Given the description of an element on the screen output the (x, y) to click on. 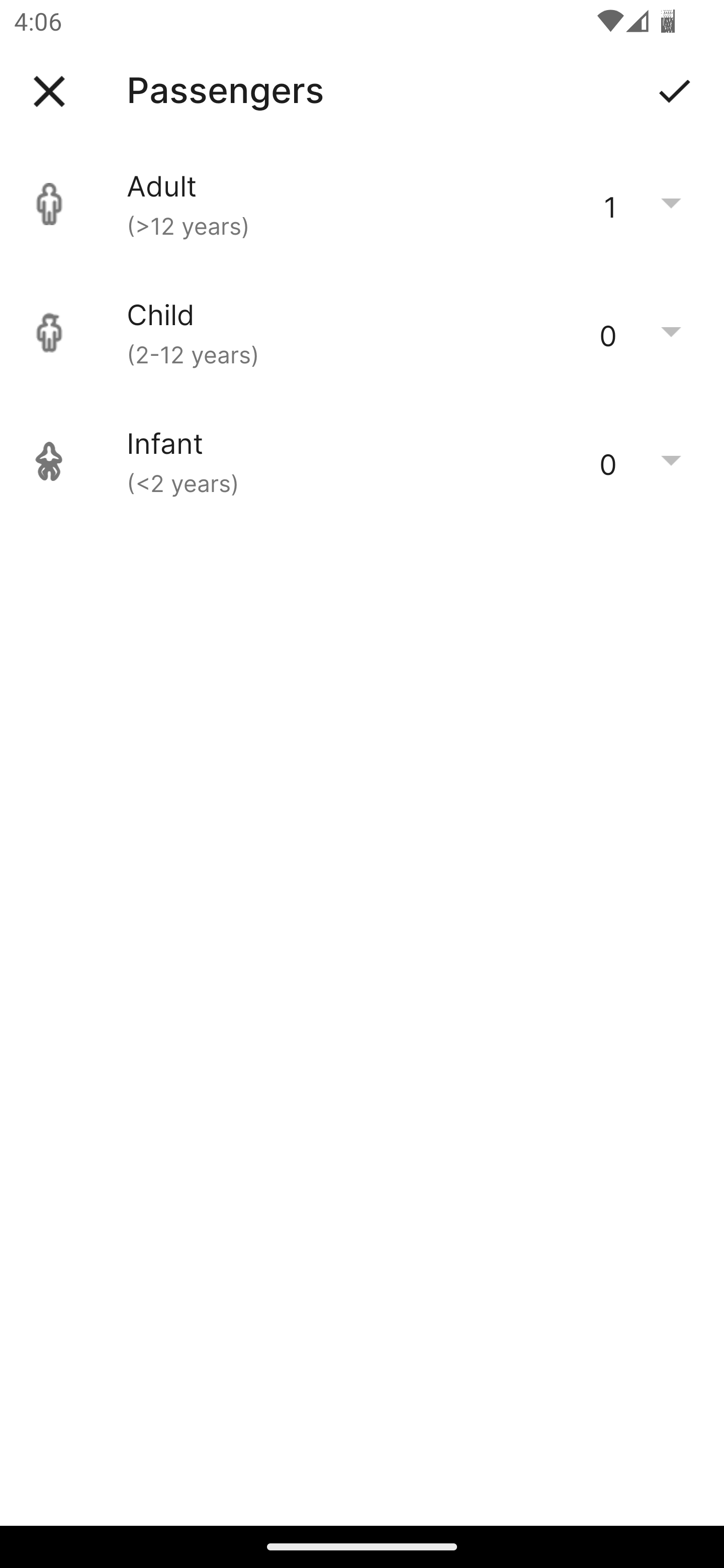
Adult (>12 years) 1 (362, 204)
Child (2-12 years) 0 (362, 332)
Infant (<2 years) 0 (362, 461)
